Given the description of an element on the screen output the (x, y) to click on. 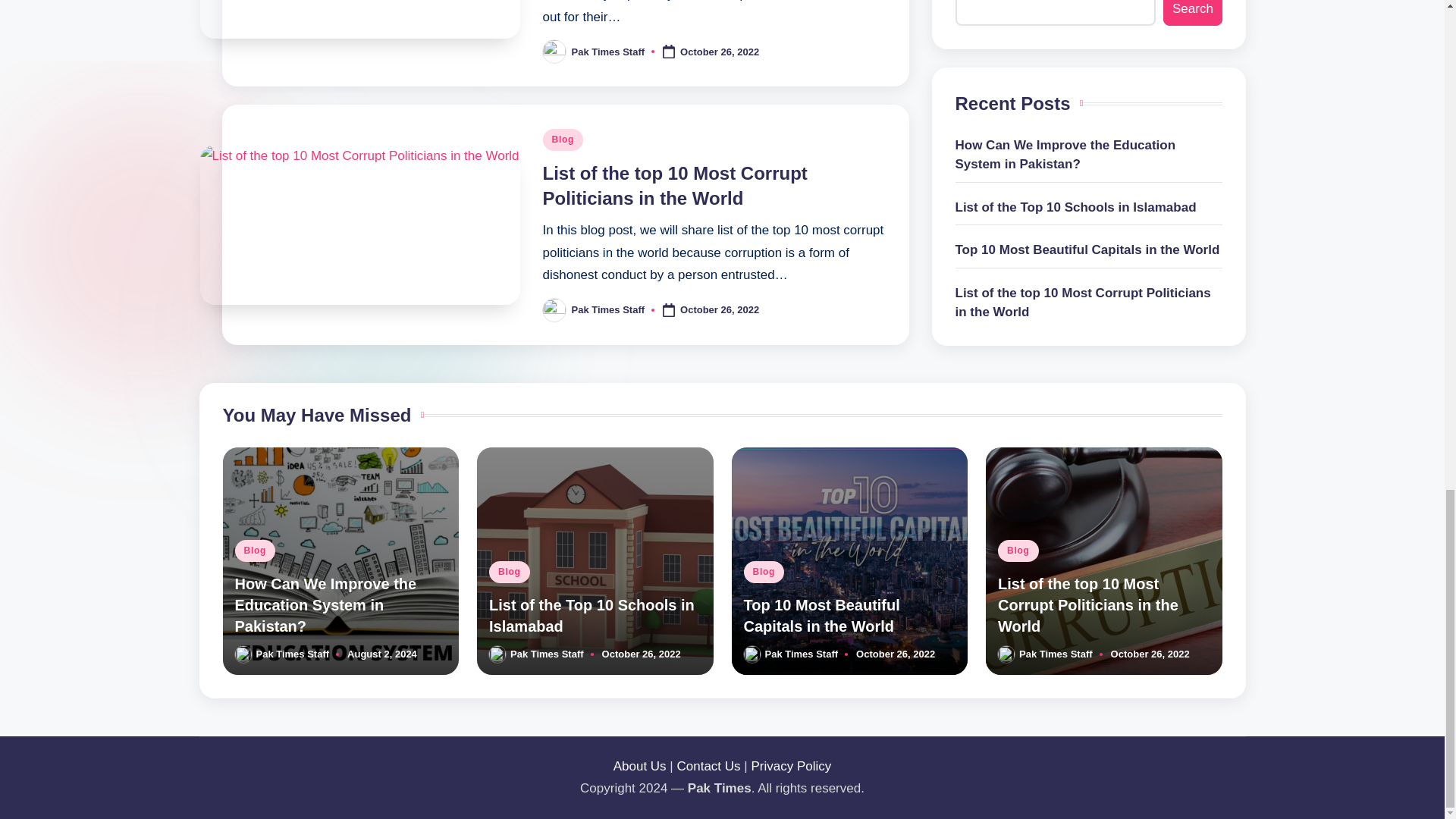
List of the top 10 Most Corrupt Politicians in the World (675, 185)
How Can We Improve the Education System in Pakistan? (325, 604)
Top 10 Most Beautiful Capitals in the World (820, 615)
View all posts by Pak Times Staff (801, 654)
View all posts by Pak Times Staff (608, 50)
View all posts by Pak Times Staff (608, 309)
List of the Top 10 Schools in Islamabad (591, 615)
View all posts by Pak Times Staff (293, 654)
View all posts by Pak Times Staff (547, 654)
